Given the description of an element on the screen output the (x, y) to click on. 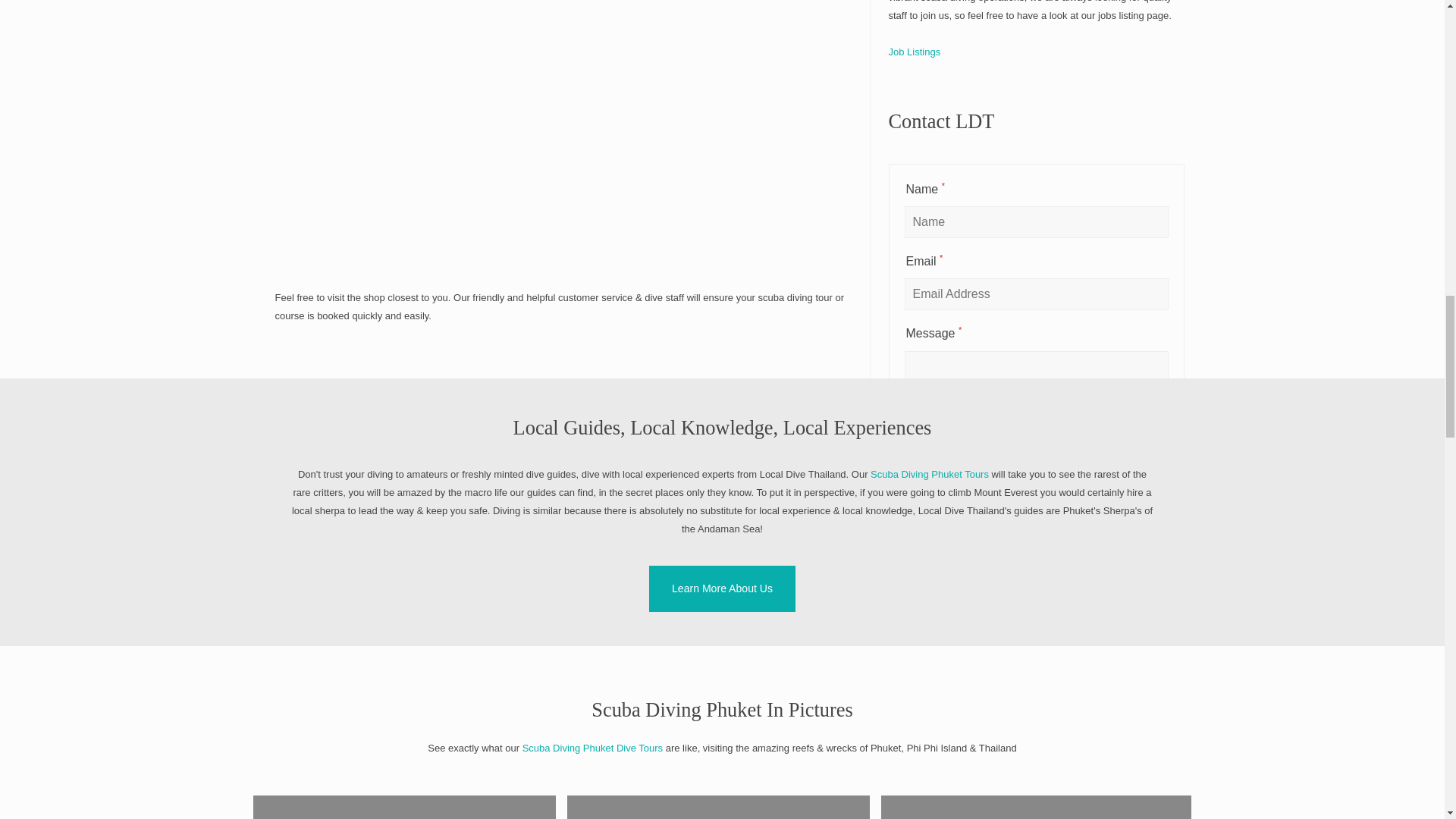
Scuba Diving Phuket Tours (929, 473)
Submit (1035, 594)
Local Dive Thailand Mission Statement (721, 588)
Jobs at Local Dive Thailand (914, 51)
Pictures of Phuket's amazing island scenery (404, 807)
Scuba Diving Phuket Dive Tours (592, 747)
